Given the description of an element on the screen output the (x, y) to click on. 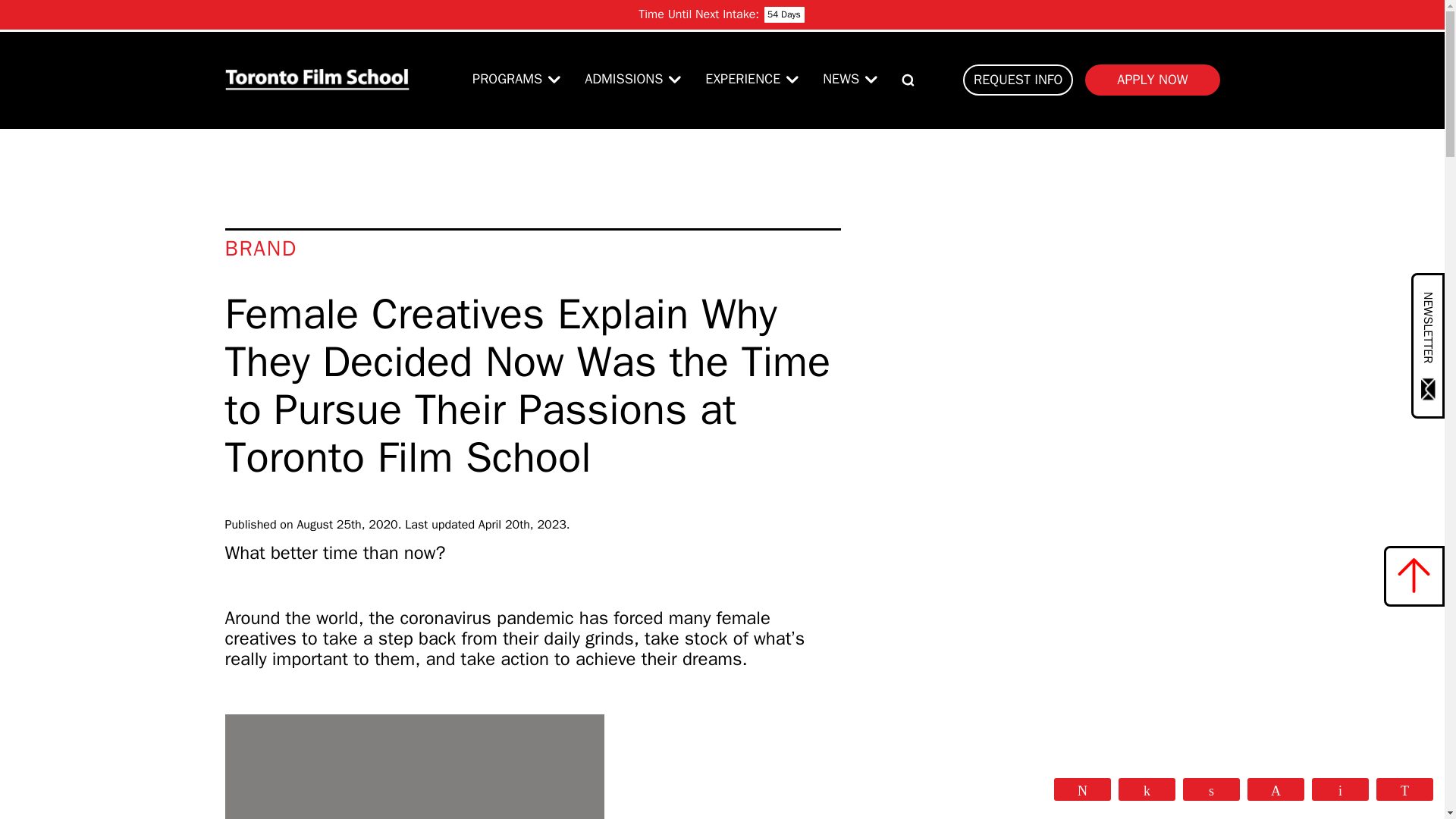
ADMISSIONS (623, 78)
PROGRAMS (506, 78)
EXPERIENCE (742, 78)
